Given the description of an element on the screen output the (x, y) to click on. 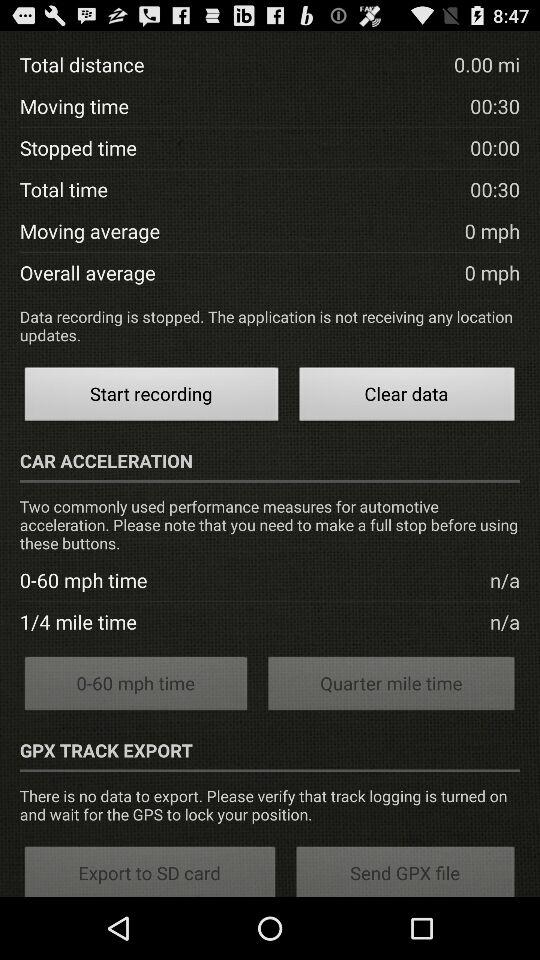
choose start recording button (151, 396)
